Given the description of an element on the screen output the (x, y) to click on. 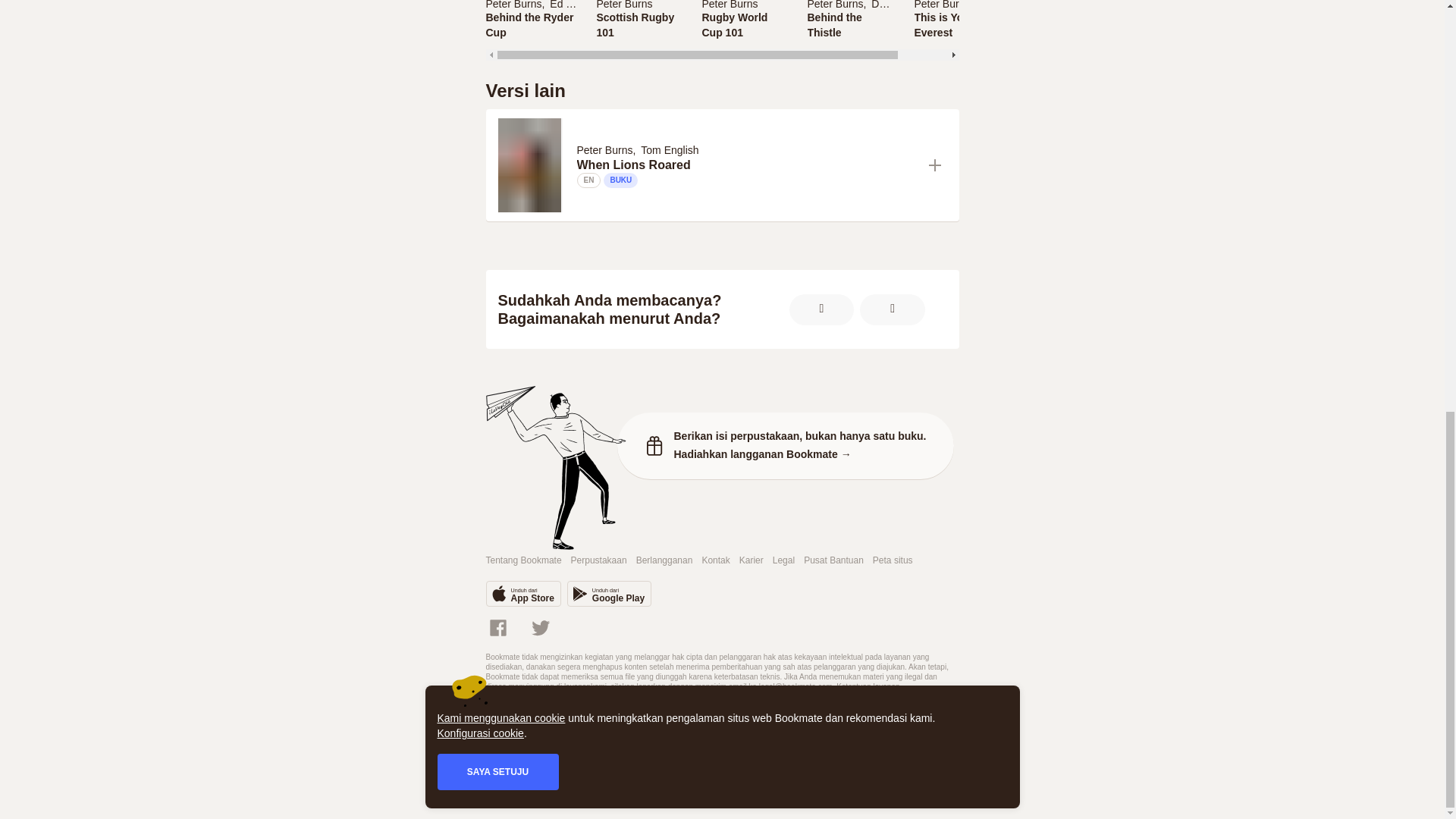
Peter Burns (638, 4)
Rugby World Cup 101 (745, 24)
When Lions Roared (745, 165)
Tom English (1006, 4)
David Barnes (902, 4)
This is Your Everest (745, 20)
Scottish Rugby 101 (956, 24)
Peter Burns, Tom English (850, 20)
Peter Burns, Ed Hodge (638, 24)
Peter Burns (639, 149)
Peter Burns (530, 4)
When Lions Roared (834, 4)
